Given the description of an element on the screen output the (x, y) to click on. 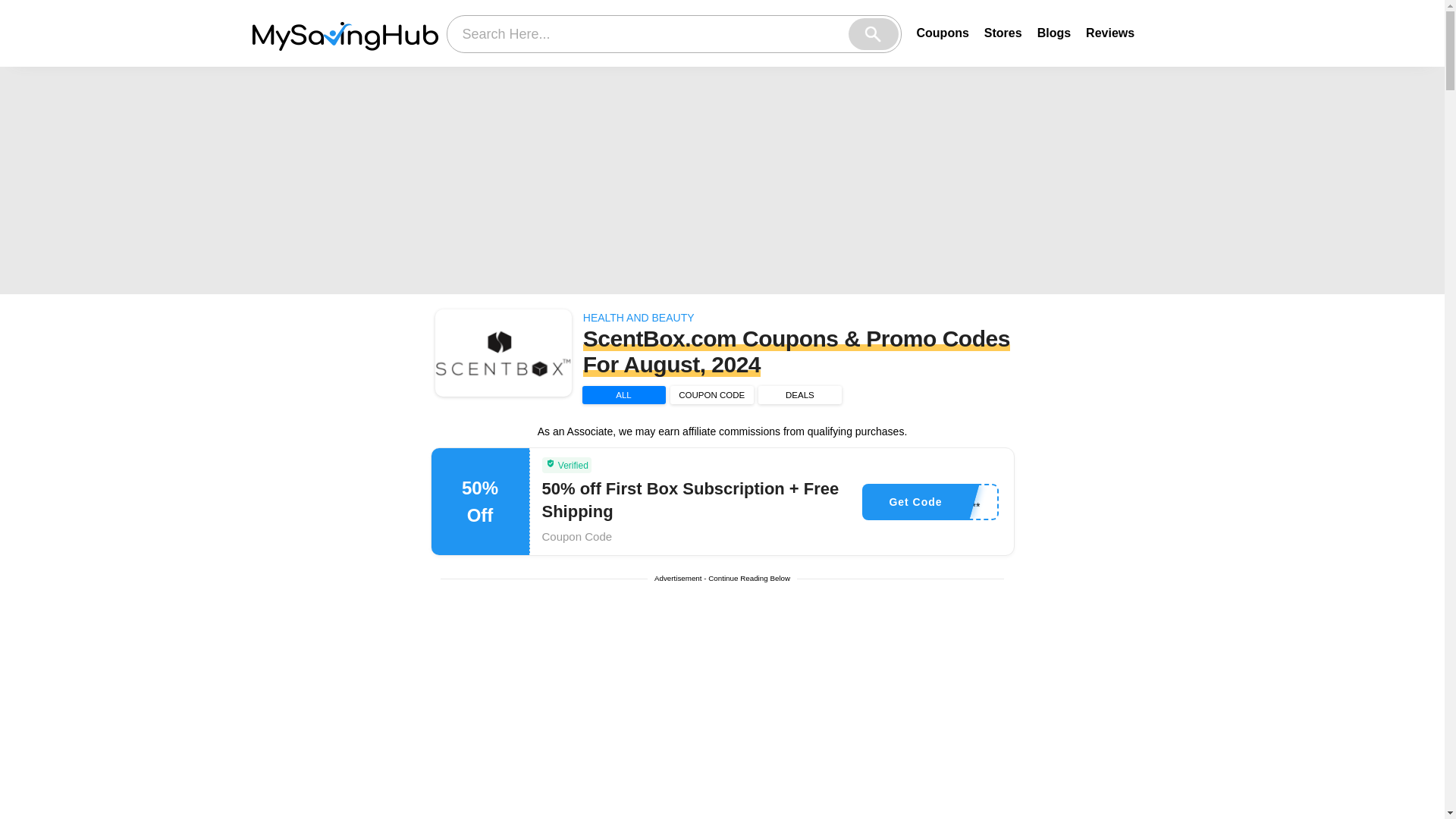
Advertisement (722, 708)
Coupons (941, 32)
Blogs (1053, 32)
Coupon Code (576, 535)
ScentBox.com coupon codes, promo codes and voucher (503, 352)
Reviews (1110, 32)
MySavingHub HOME PAGE (344, 33)
HEALTH AND BEAUTY (638, 317)
Stores (1003, 32)
